Given the description of an element on the screen output the (x, y) to click on. 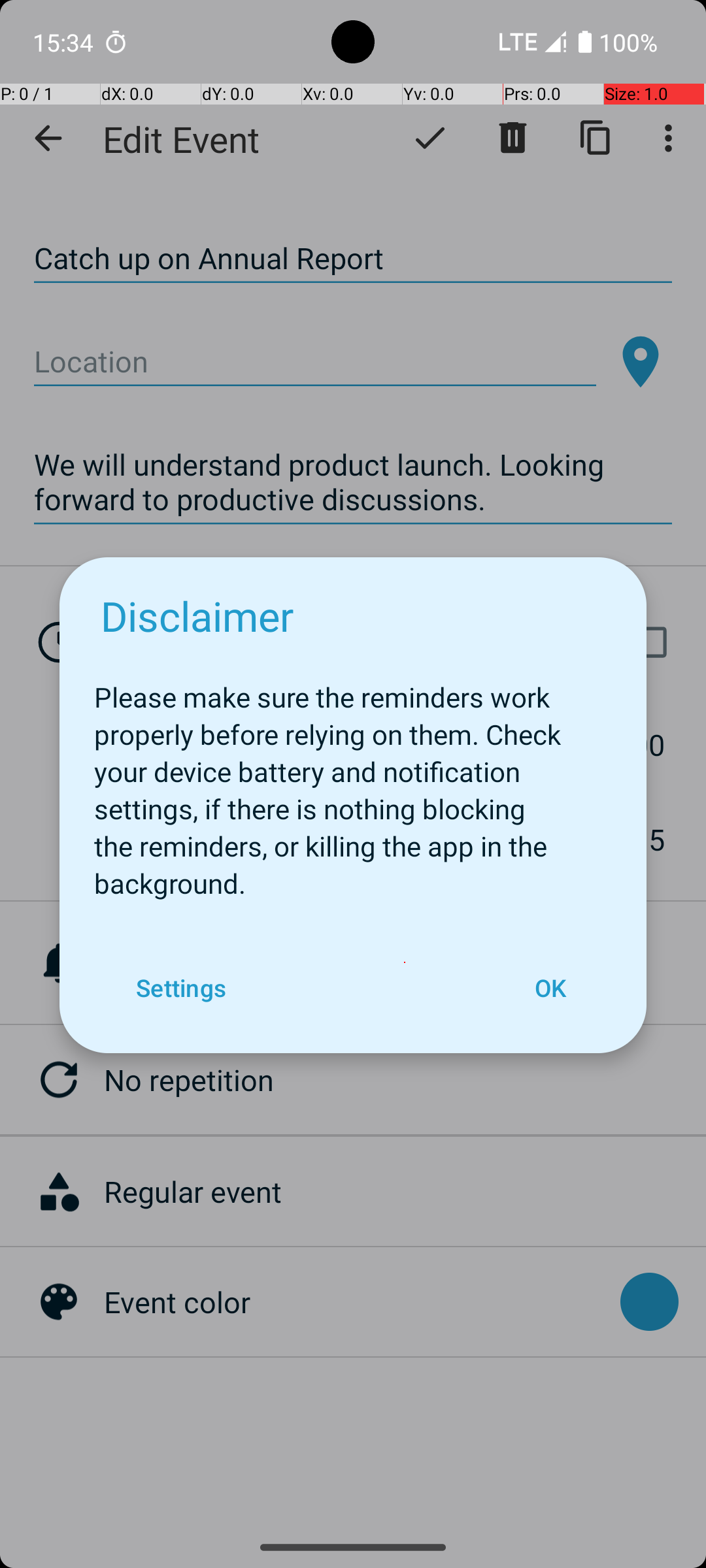
Disclaimer Element type: android.widget.TextView (196, 615)
Please make sure the reminders work properly before relying on them. Check your device battery and notification settings, if there is nothing blocking the reminders, or killing the app in the background. Element type: android.widget.TextView (352, 782)
